Given the description of an element on the screen output the (x, y) to click on. 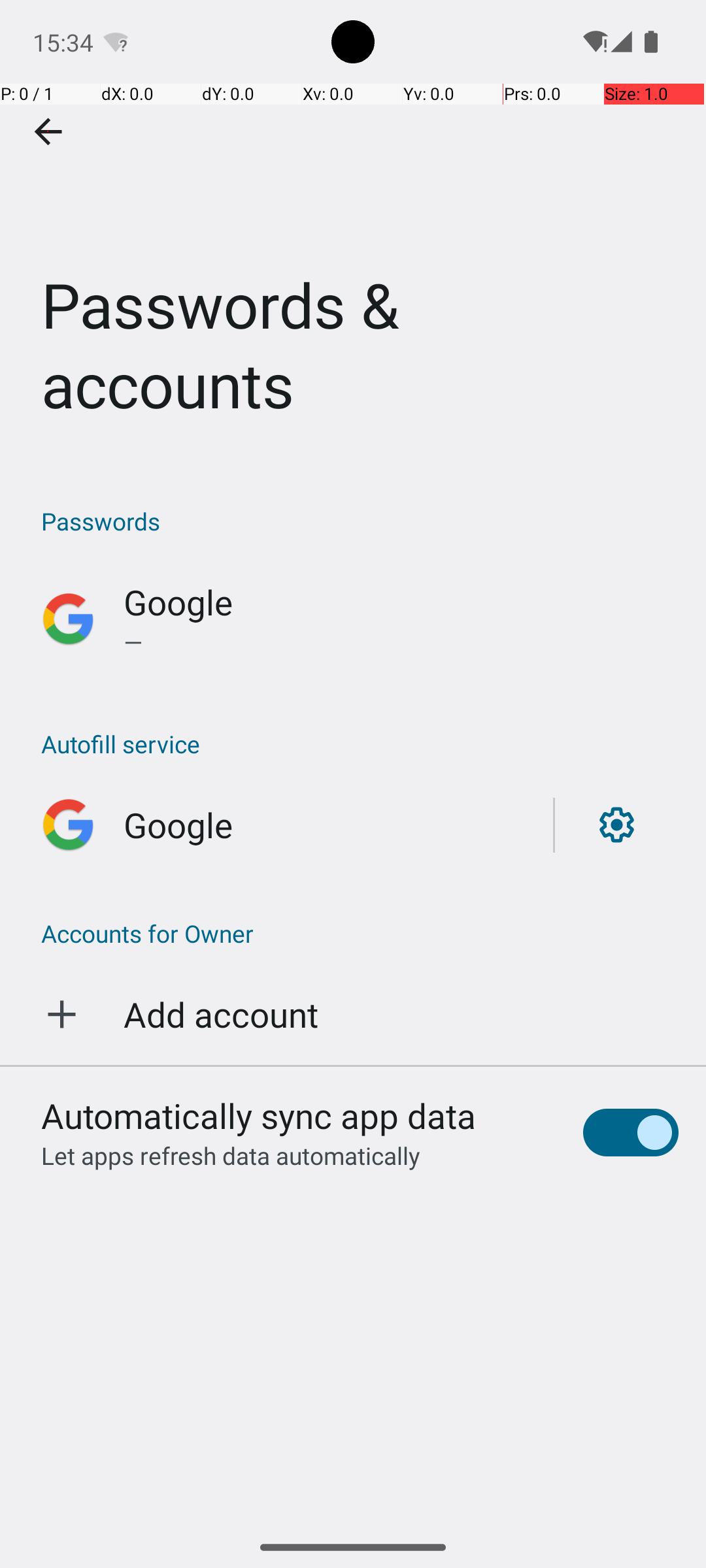
Passwords & accounts Element type: android.widget.FrameLayout (353, 231)
Accounts for Owner Element type: android.widget.LinearLayout (353, 932)
Passwords Element type: android.widget.TextView (359, 520)
— Element type: android.widget.TextView (400, 641)
Autofill service Element type: android.widget.TextView (359, 743)
Automatically sync app data Element type: android.widget.TextView (258, 1115)
Let apps refresh data automatically Element type: android.widget.TextView (230, 1155)
